Given the description of an element on the screen output the (x, y) to click on. 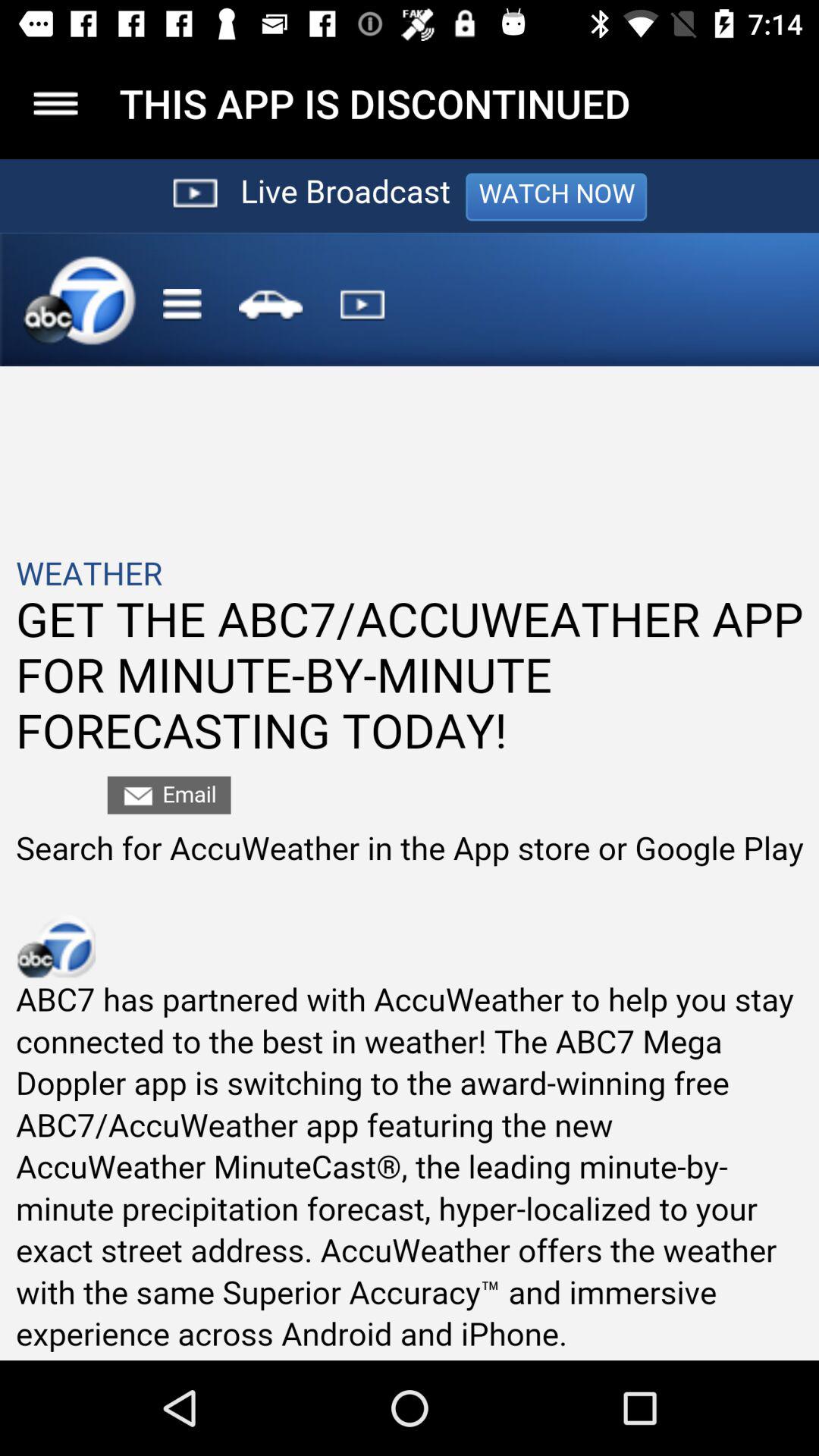
seeing in the paragraph (409, 759)
